Given the description of an element on the screen output the (x, y) to click on. 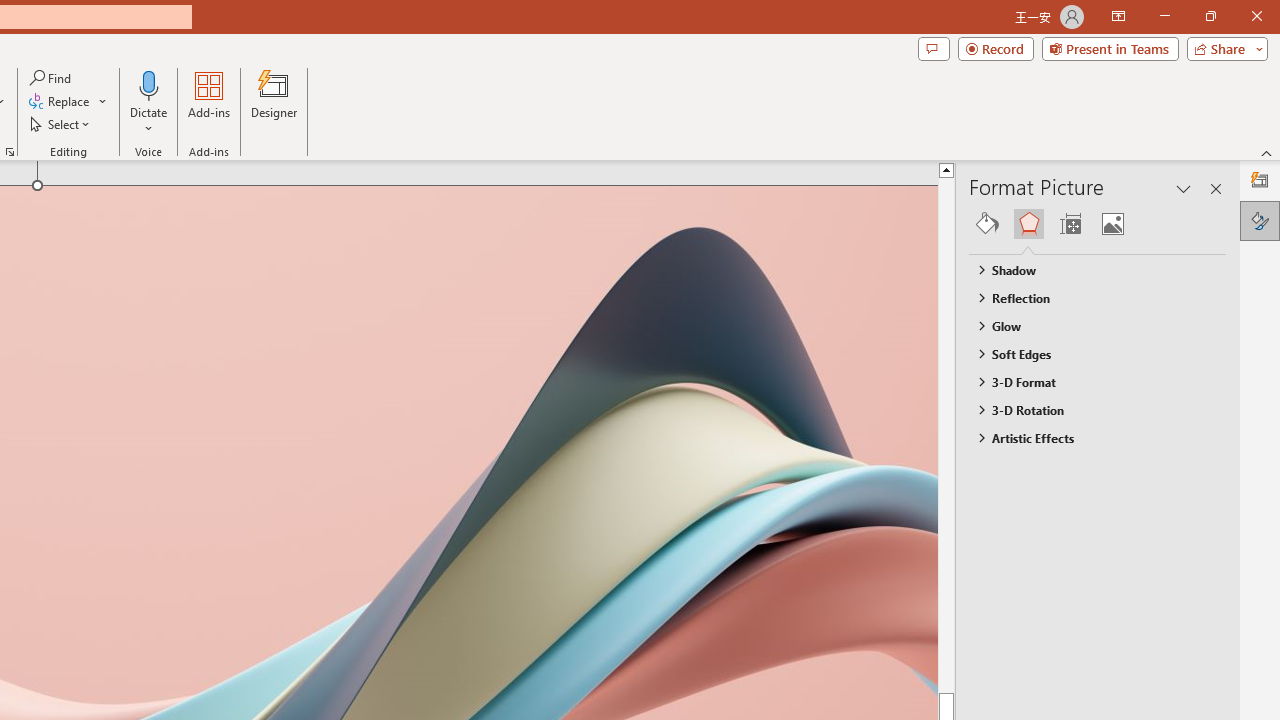
Page up (983, 434)
Dictate (149, 84)
Dictate (149, 102)
Find... (51, 78)
Replace... (60, 101)
Shadow (1088, 269)
Share (1223, 48)
Format Picture (1260, 220)
Close pane (1215, 188)
Class: NetUIImage (980, 437)
Glow (1088, 325)
Replace... (68, 101)
Class: NetUIGalleryContainer (1098, 223)
Format Object... (9, 151)
